Given the description of an element on the screen output the (x, y) to click on. 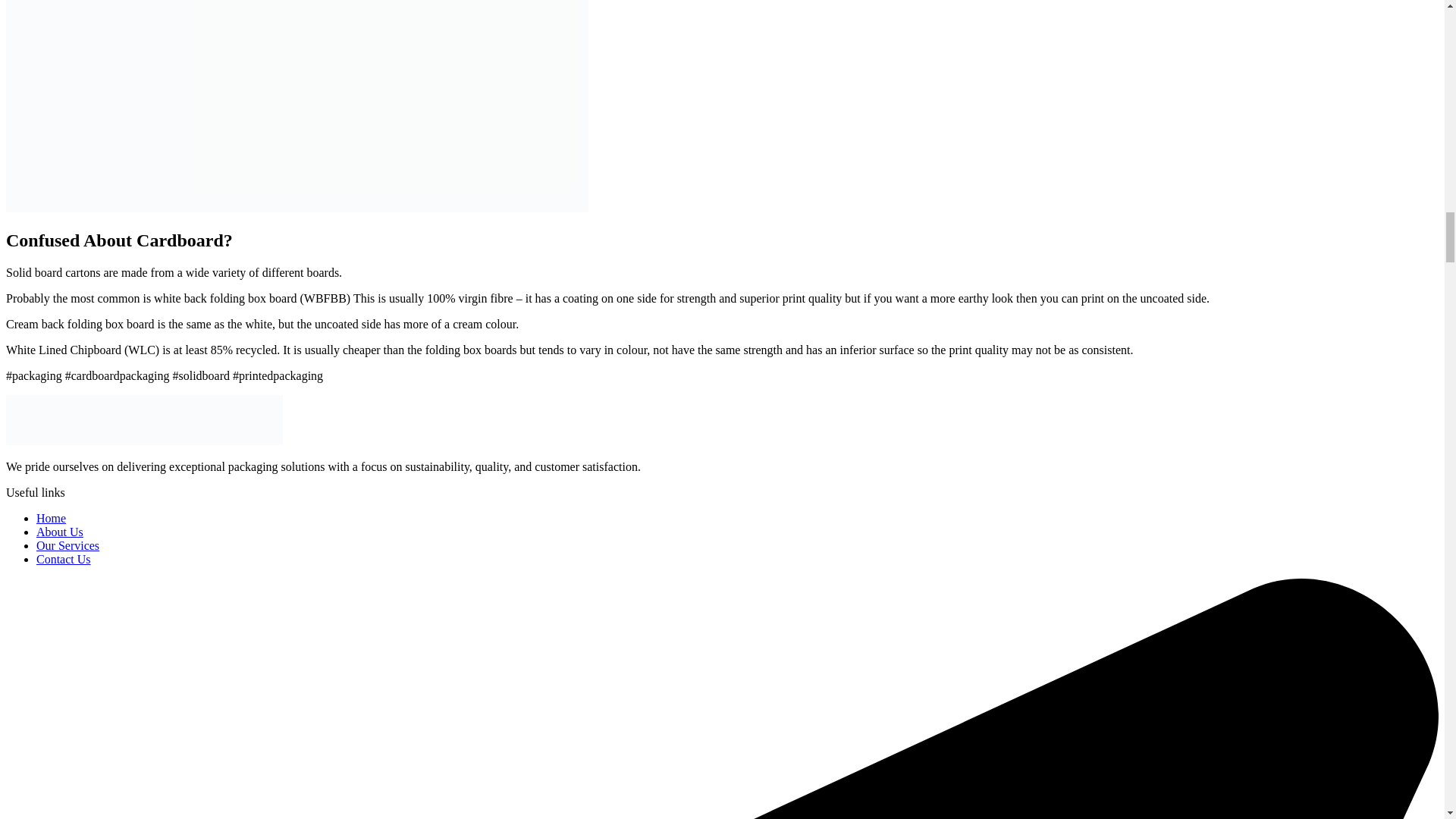
Home (50, 517)
About Us (59, 531)
Our Services (67, 545)
Contact Us (63, 558)
